Given the description of an element on the screen output the (x, y) to click on. 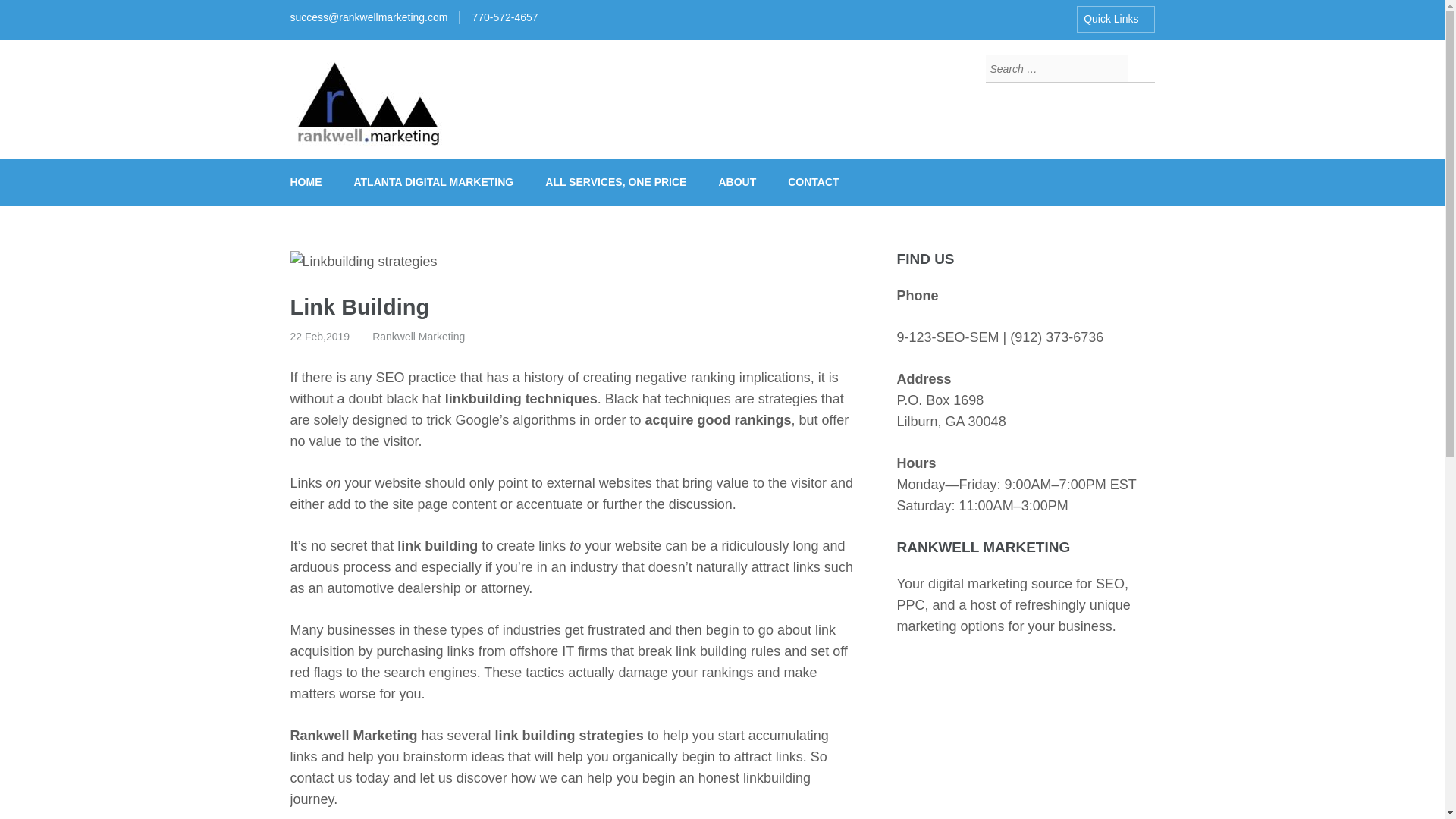
770-572-4657 (504, 17)
Quick Links (1115, 18)
ATLANTA DIGITAL MARKETING (433, 181)
